Given the description of an element on the screen output the (x, y) to click on. 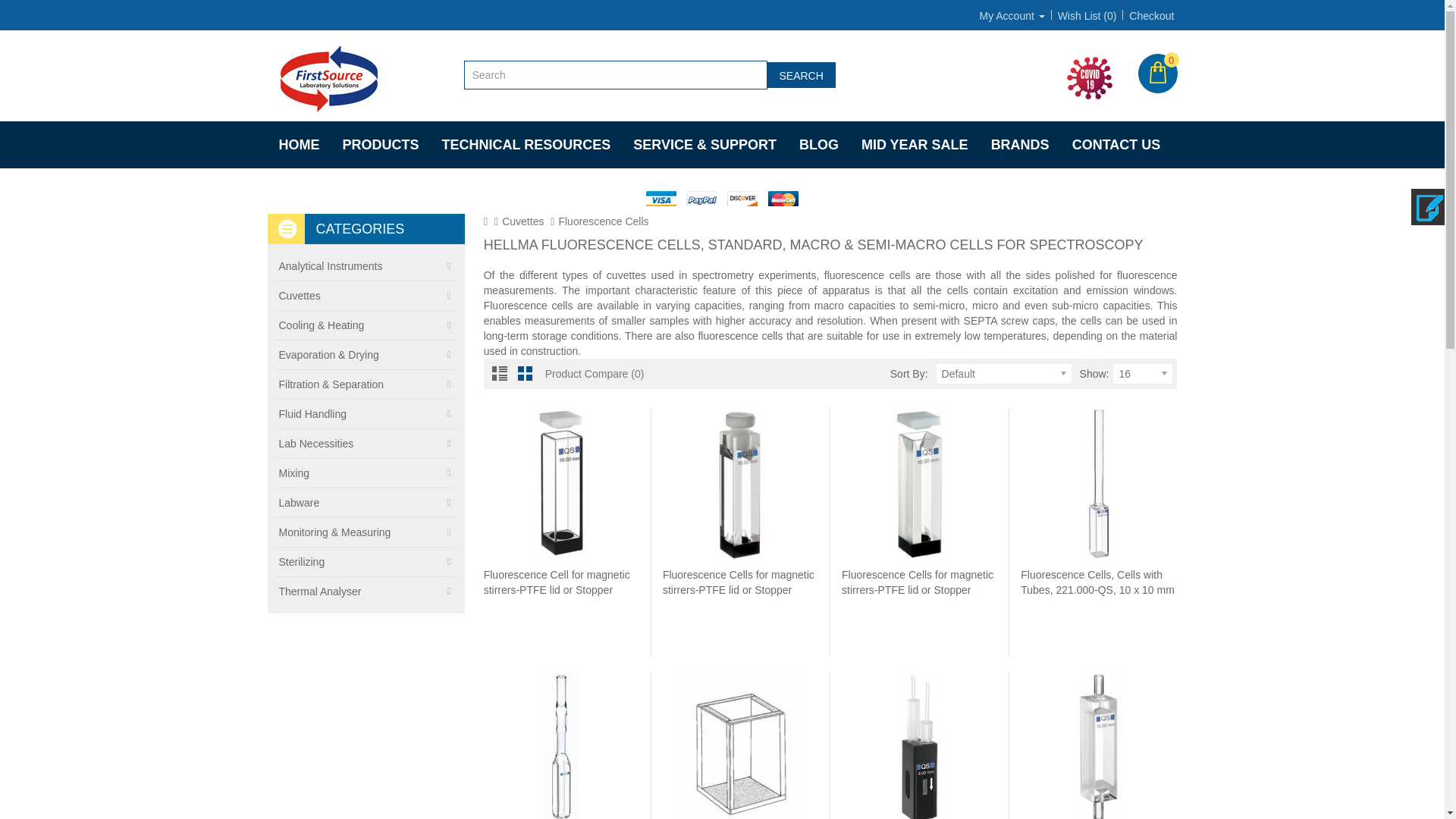
HOME (298, 144)
PRODUCTS (379, 144)
My Account (1012, 15)
FirstSource Laboratory Solutions LLP (1088, 77)
My Account (1012, 15)
Fluorescence Cells for magnetic stirrers-PTFE lid or Stopper (919, 483)
Fluorescence Cells, Dye-Laser Cells, 101.171-QG (739, 745)
Fluorescence Cell for magnetic stirrers-PTFE lid or Stopper (560, 483)
SEARCH (801, 74)
